Given the description of an element on the screen output the (x, y) to click on. 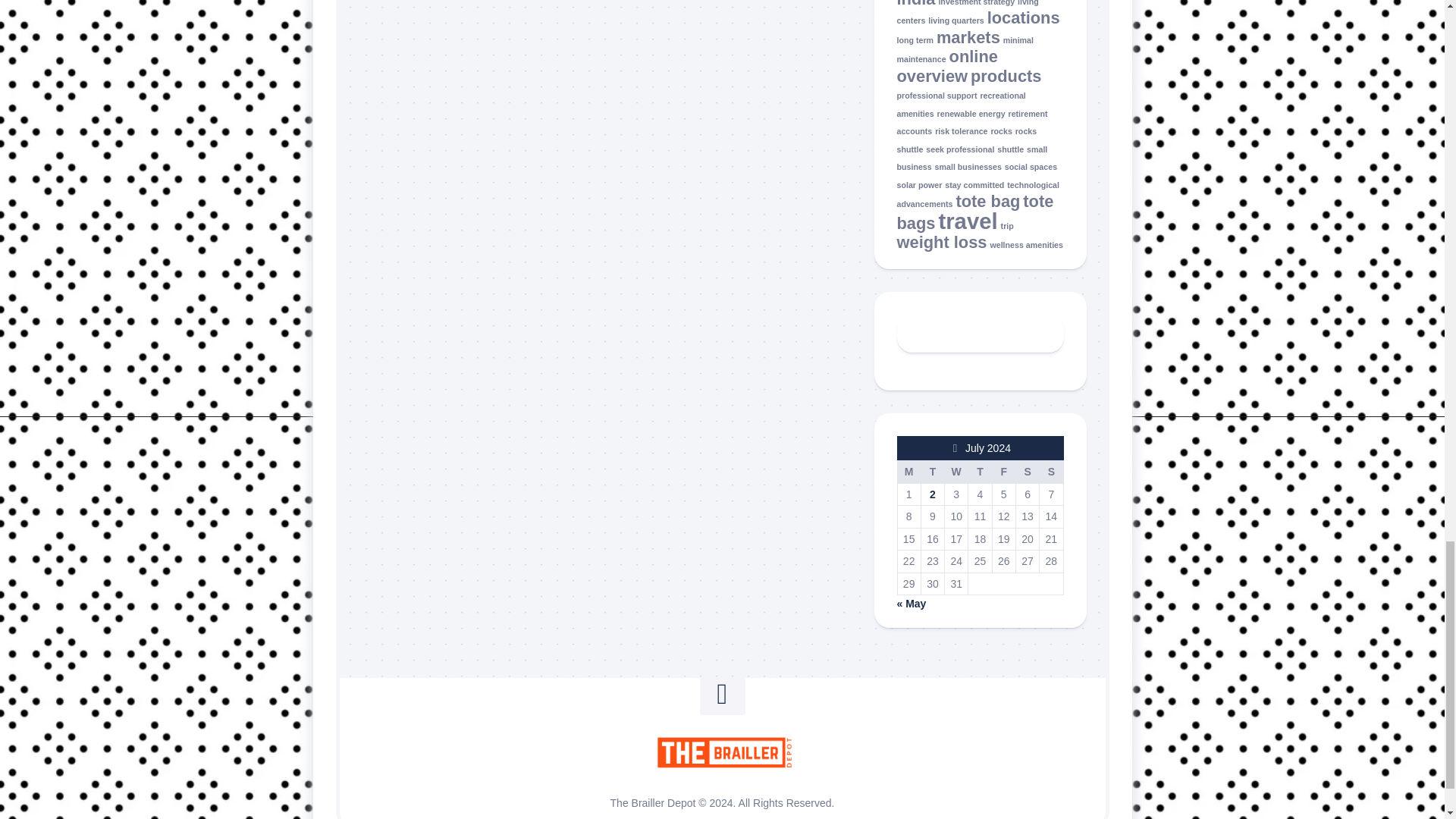
Wednesday (956, 471)
Monday (908, 471)
Sunday (1050, 471)
Thursday (979, 471)
Tuesday (931, 471)
Saturday (1026, 471)
Friday (1002, 471)
